Given the description of an element on the screen output the (x, y) to click on. 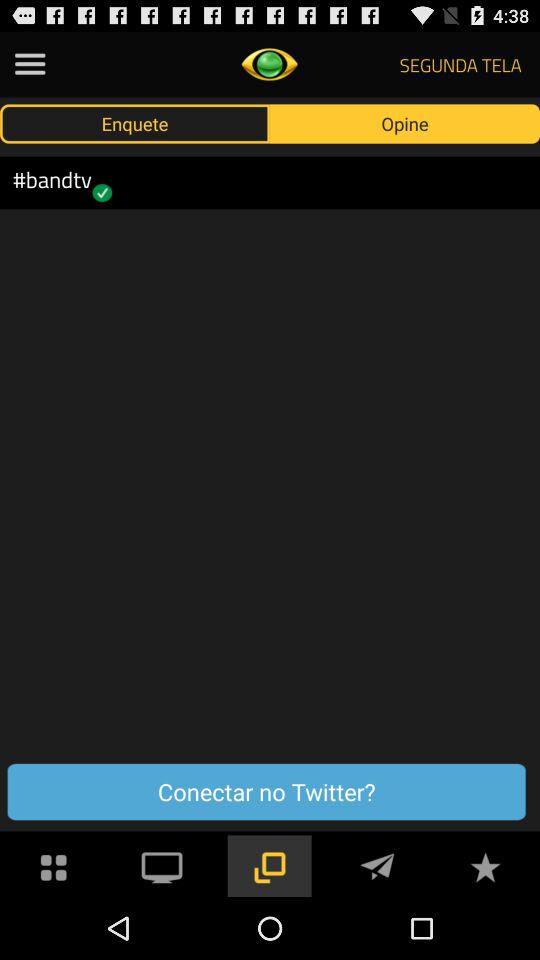
view favorites (485, 865)
